Given the description of an element on the screen output the (x, y) to click on. 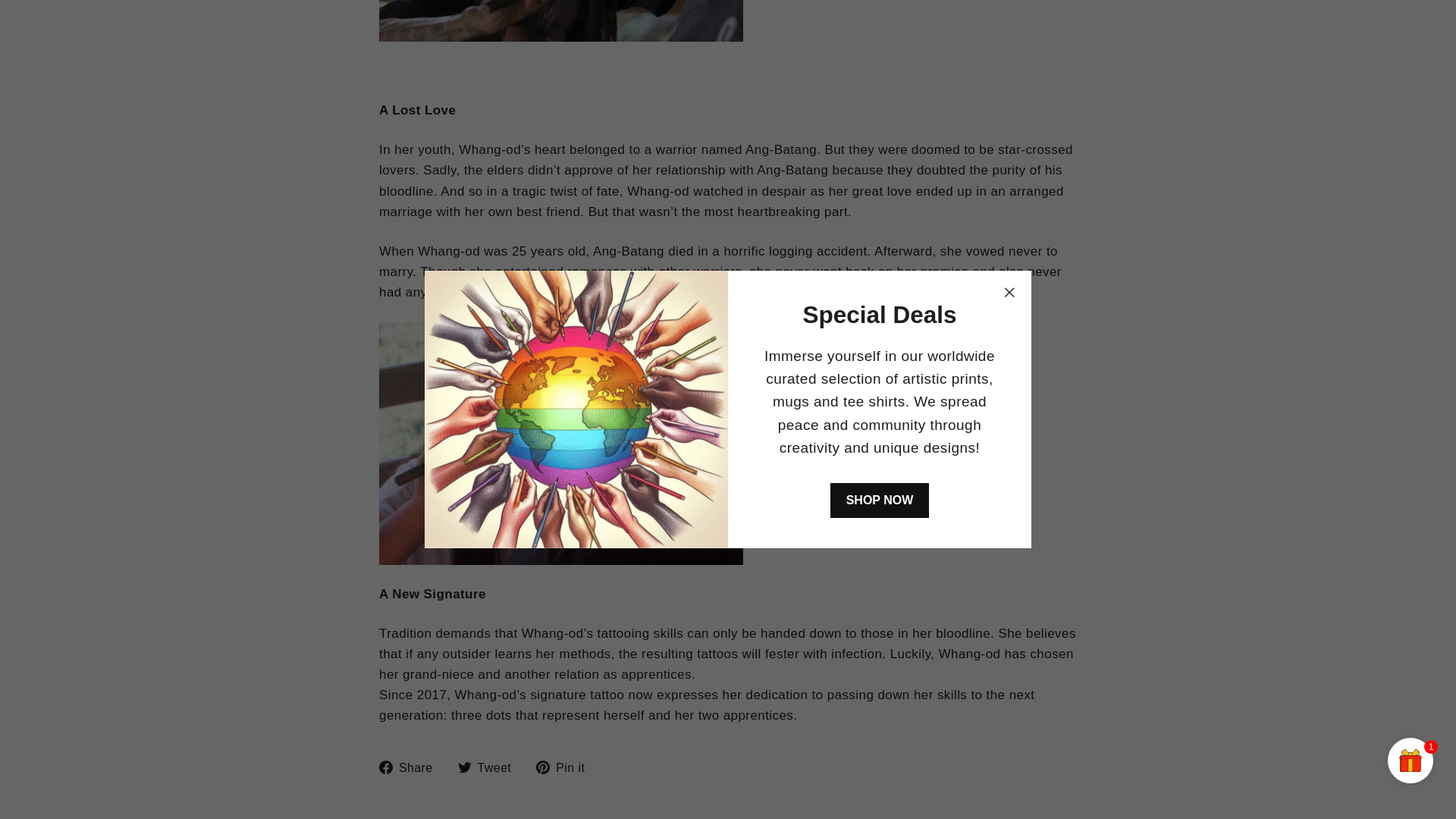
twitter (464, 766)
Tweet on Twitter (490, 767)
